Given the description of an element on the screen output the (x, y) to click on. 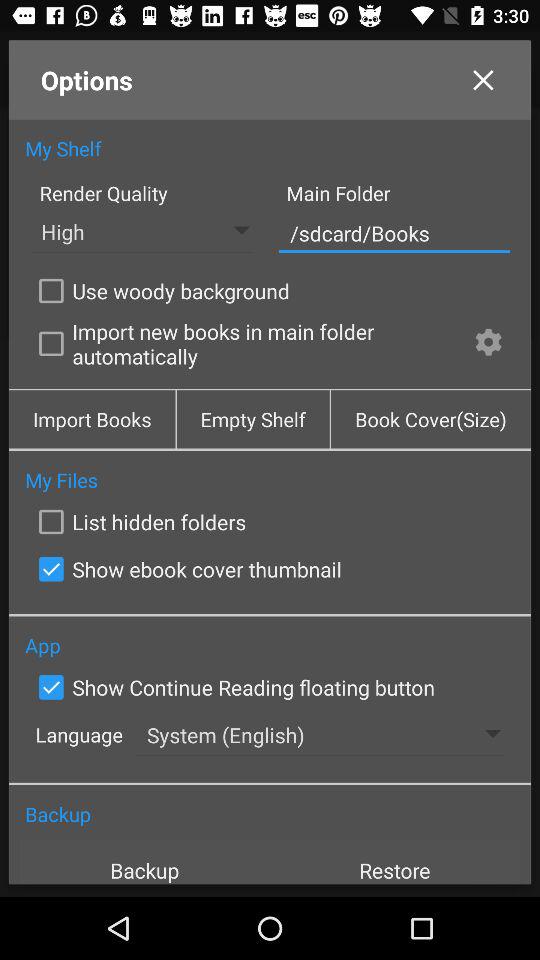
choose the app below the /sdcard/books (488, 344)
